Given the description of an element on the screen output the (x, y) to click on. 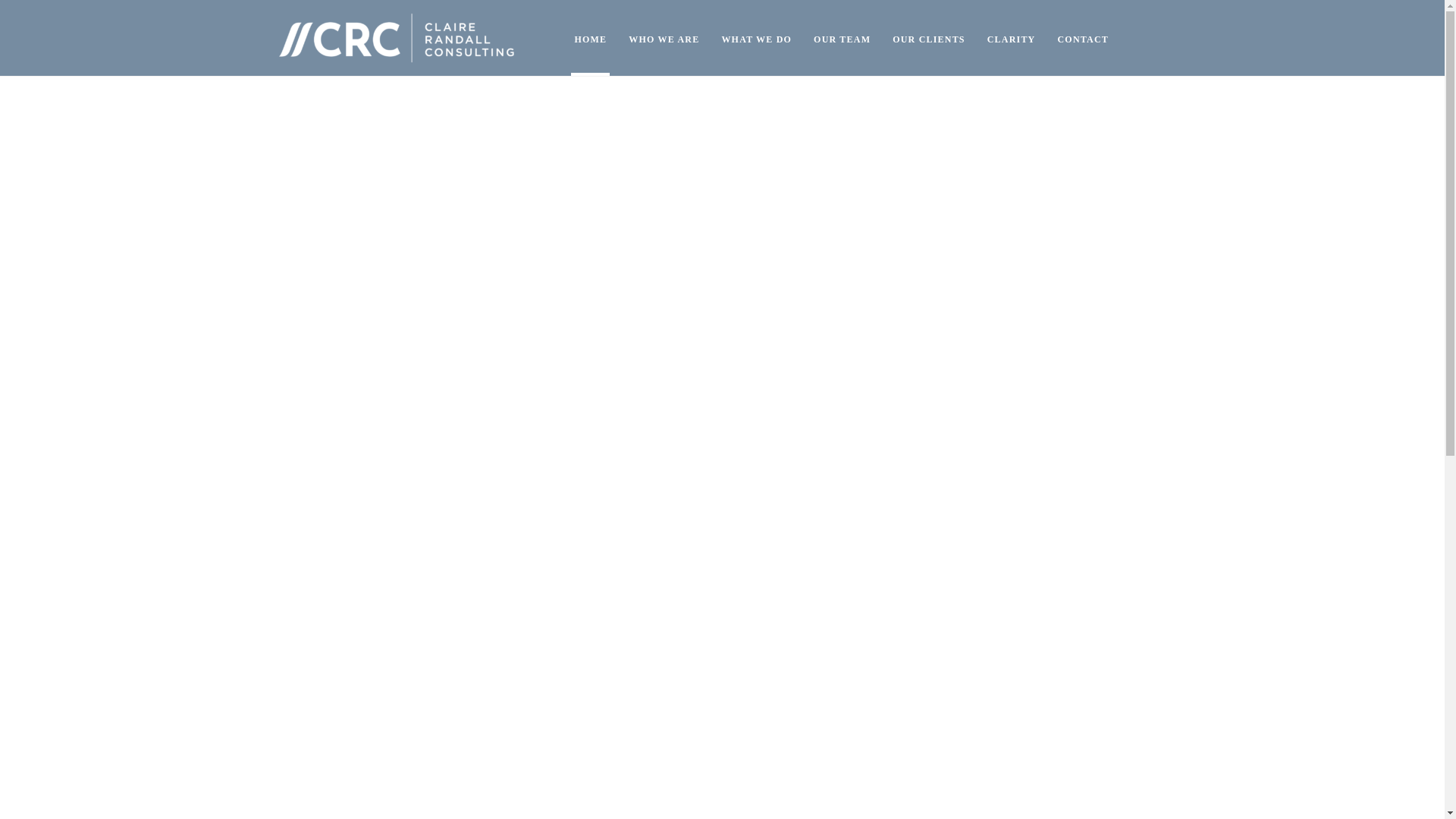
Who We Are (663, 37)
WHO WE ARE (663, 37)
WHAT WE DO (755, 37)
Our Clients (928, 37)
OUR CLIENTS (928, 37)
What We Do (755, 37)
